Given the description of an element on the screen output the (x, y) to click on. 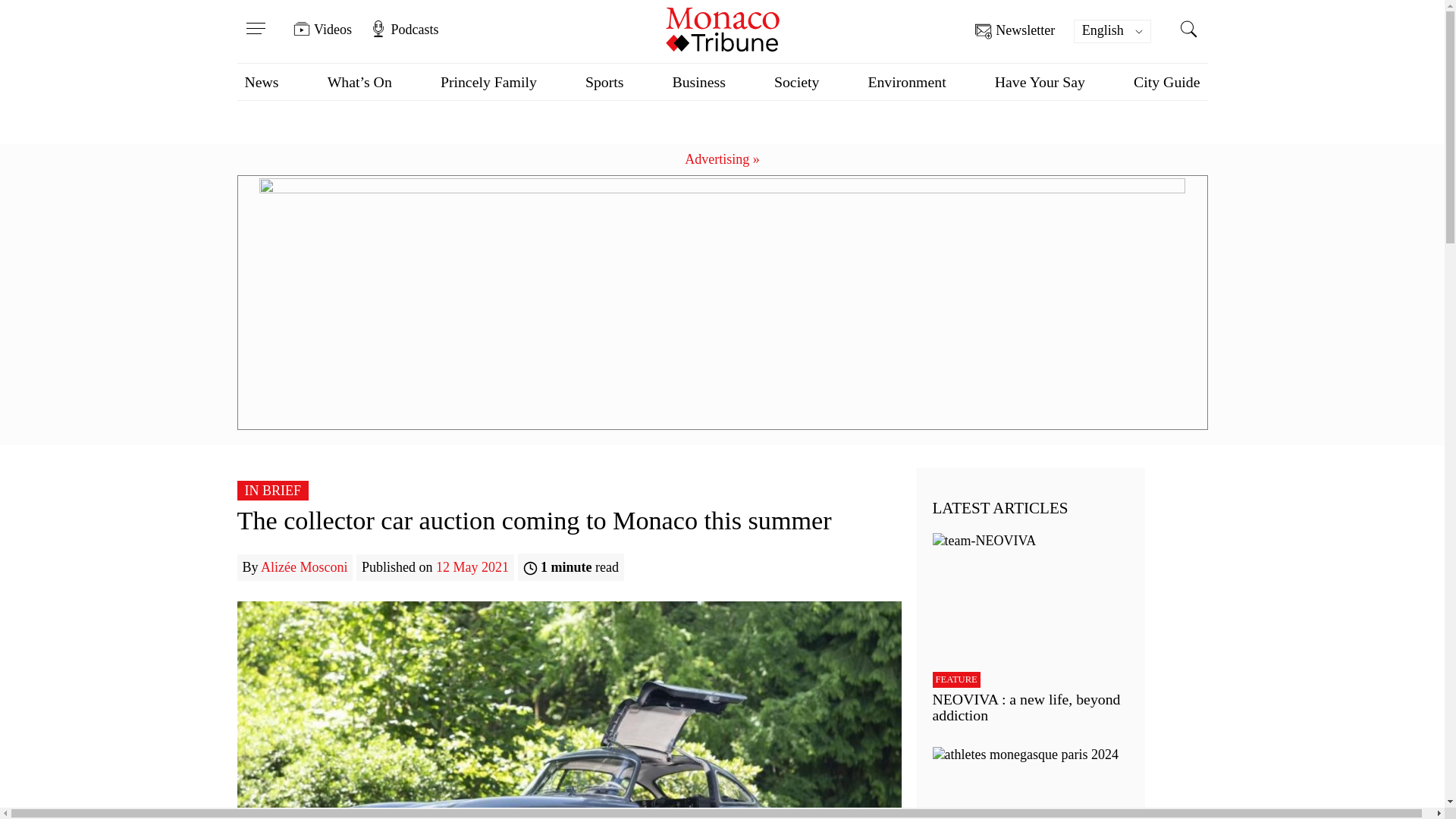
English (1112, 31)
Videos (323, 28)
Newsletter (1014, 31)
Podcasts (403, 28)
